Given the description of an element on the screen output the (x, y) to click on. 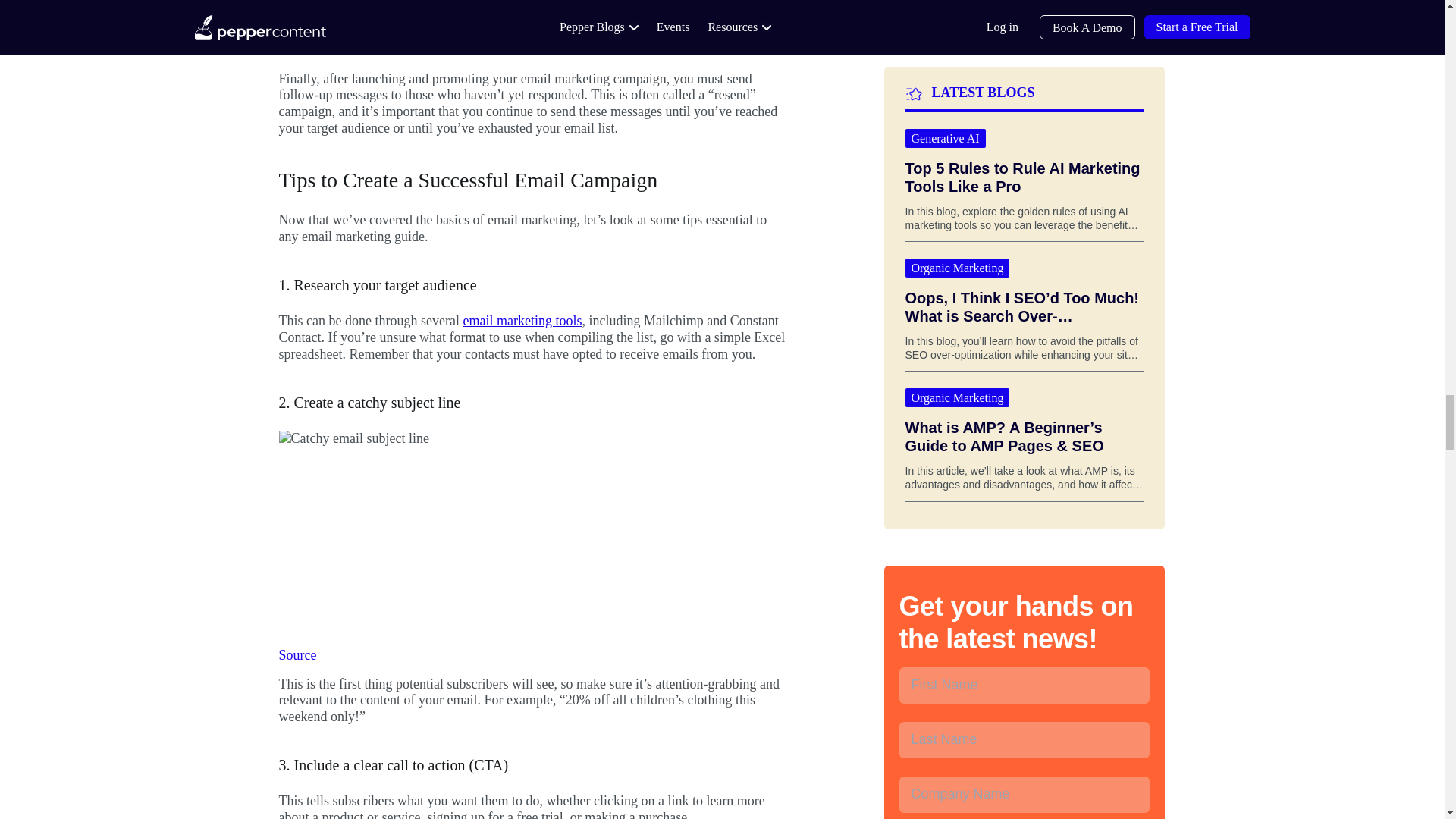
email marketing tools (521, 320)
Source (298, 654)
